Given the description of an element on the screen output the (x, y) to click on. 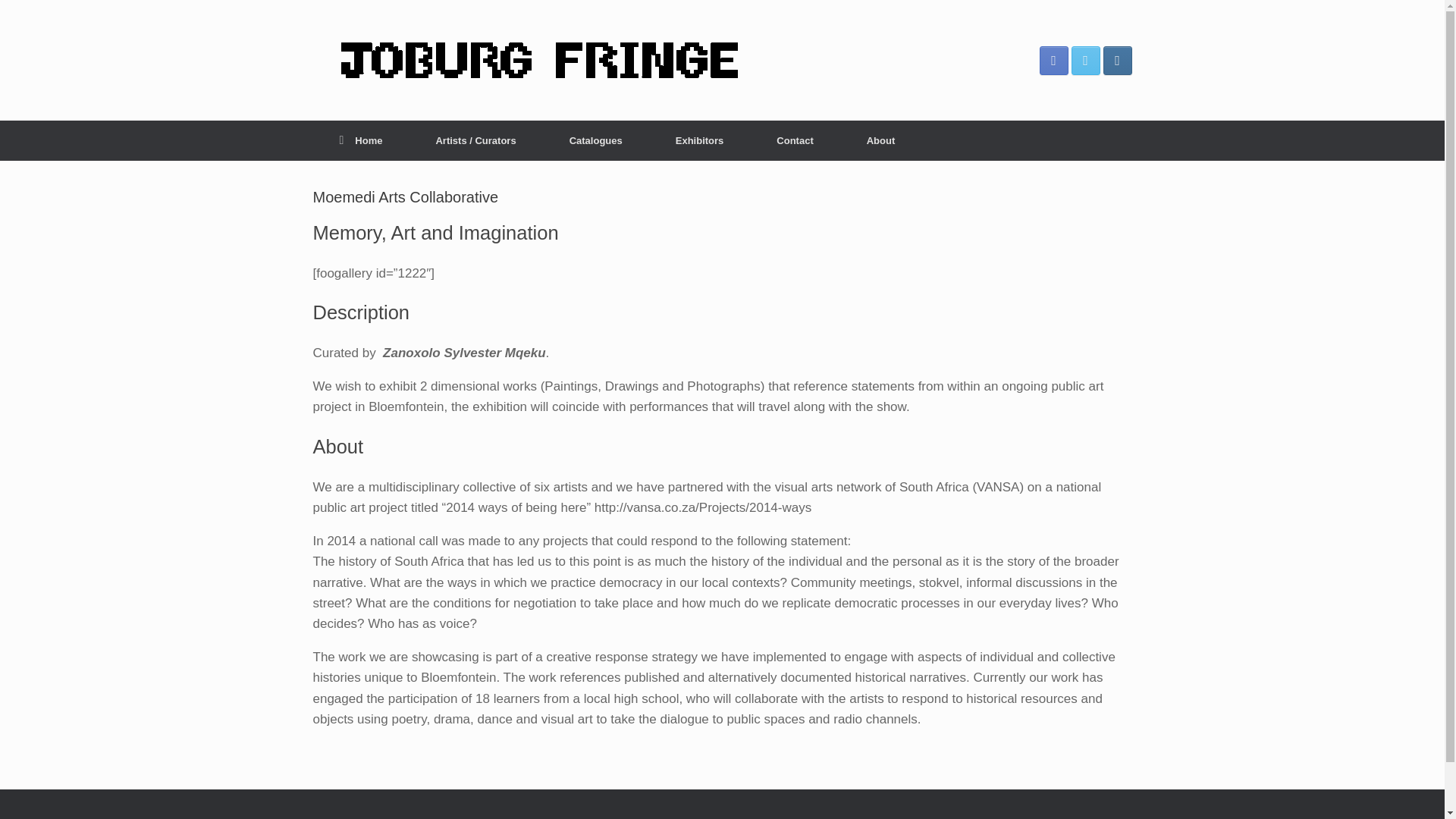
Contact (794, 140)
Exhibitors (700, 140)
Home (361, 140)
Joburg Fringe (540, 60)
Joburg Fringe Instagram (1116, 59)
Joburg Fringe Twitter (1084, 59)
Catalogues (596, 140)
Joburg Fringe Facebook (1053, 59)
About (880, 140)
